Given the description of an element on the screen output the (x, y) to click on. 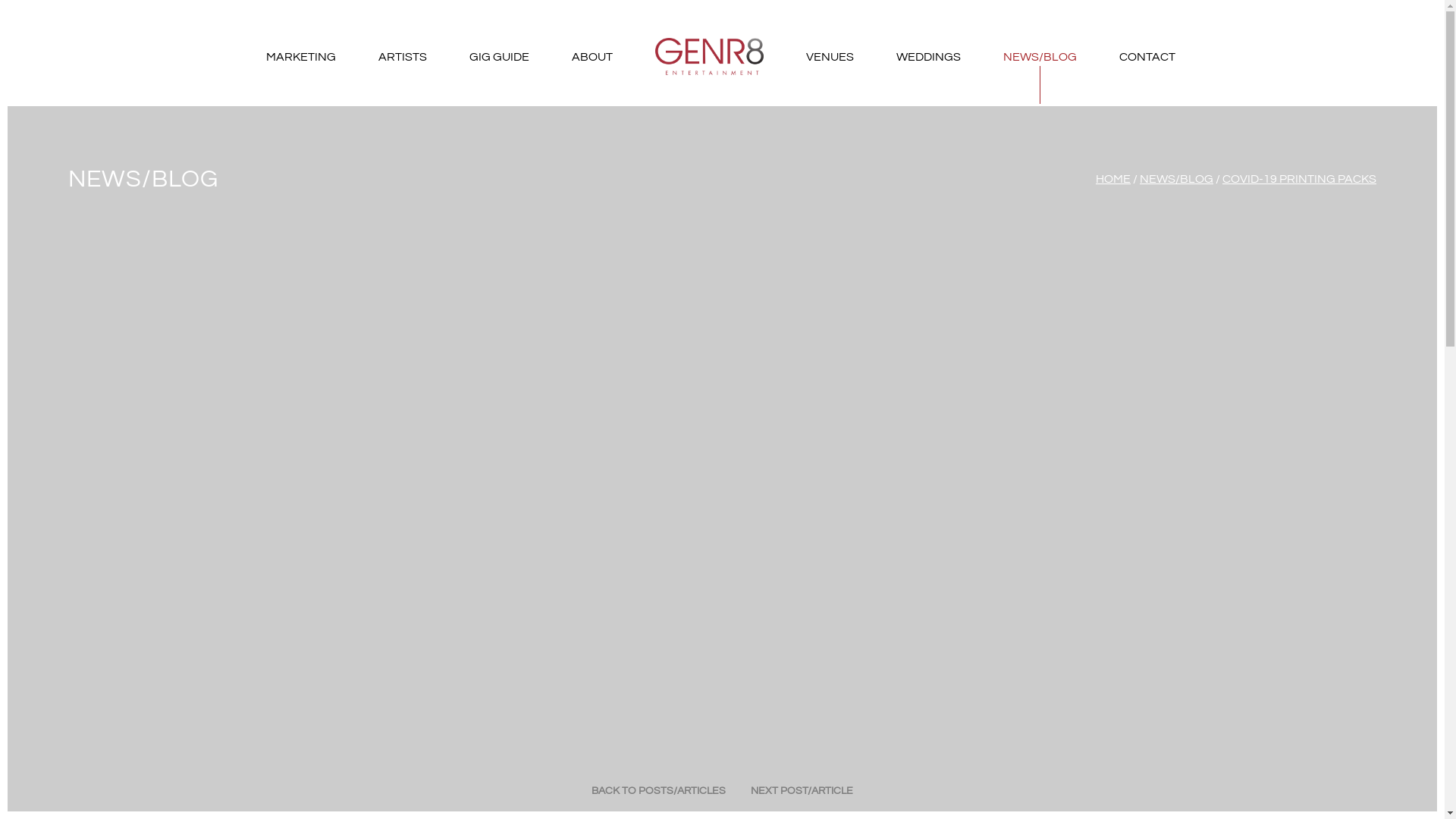
CONTACT Element type: text (1147, 56)
COVID-19 PRINTING PACKS Element type: text (1299, 178)
MARKETING Element type: text (300, 56)
HOME Element type: text (1112, 178)
GIG GUIDE Element type: text (498, 56)
NEWS/BLOG Element type: text (1039, 56)
ABOUT Element type: text (591, 56)
NEWS/BLOG Element type: text (1176, 178)
VENUES Element type: text (829, 56)
NEXT POST/ARTICLE Element type: text (801, 790)
BACK TO POSTS/ARTICLES Element type: text (658, 790)
ARTISTS Element type: text (401, 56)
WEDDINGS Element type: text (928, 56)
